Given the description of an element on the screen output the (x, y) to click on. 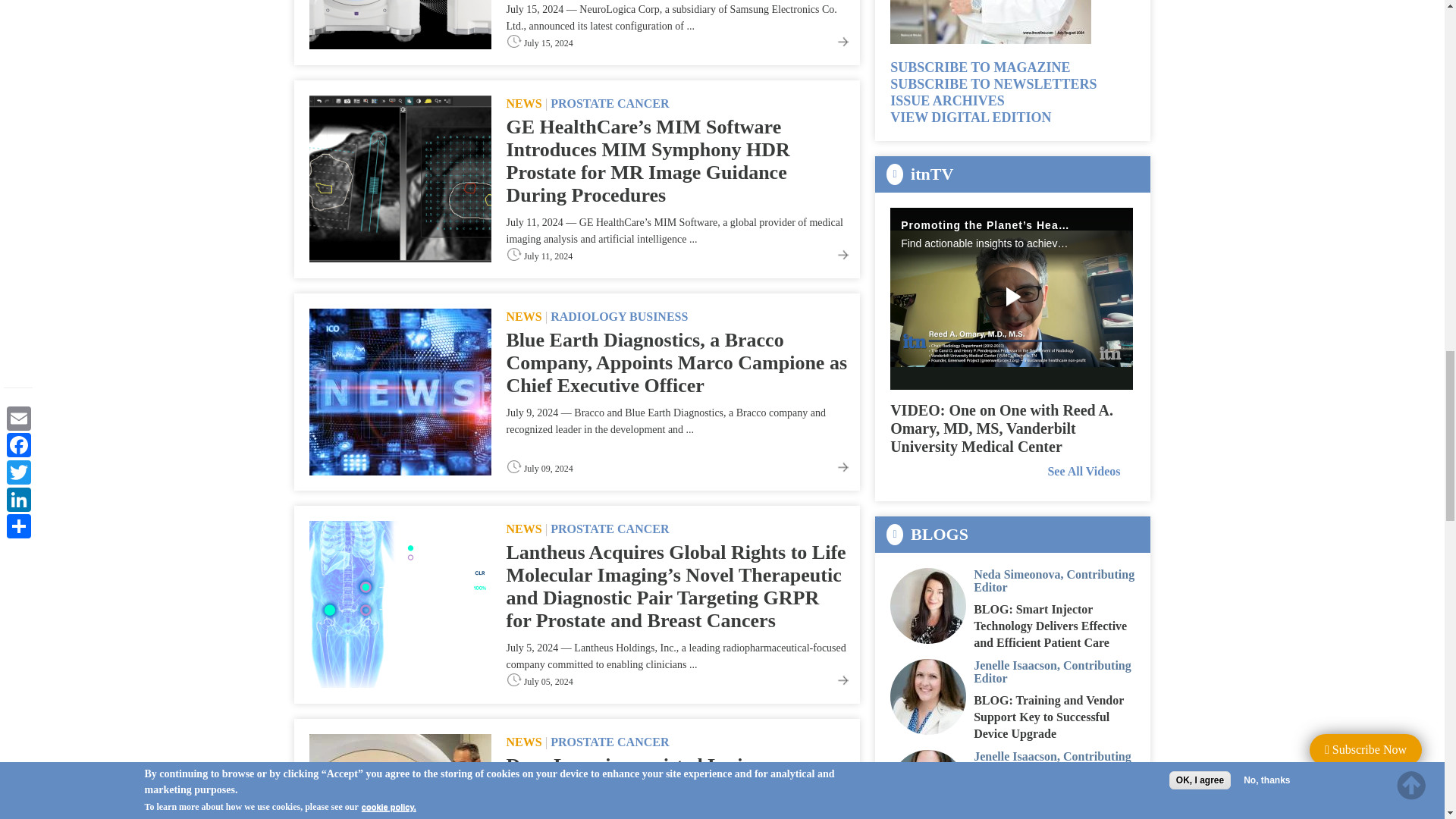
Play Video (1011, 298)
